Given the description of an element on the screen output the (x, y) to click on. 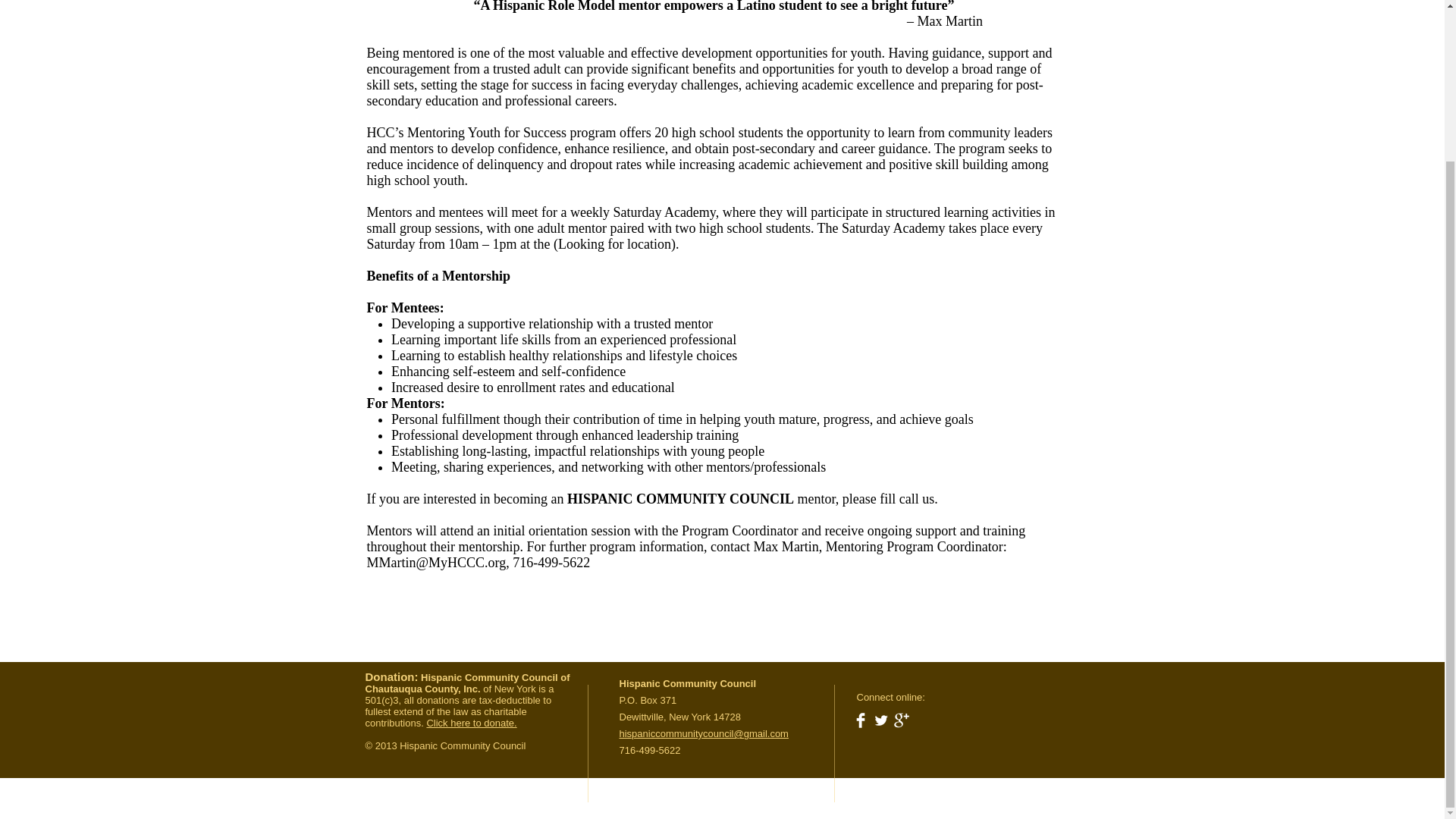
Click here to donate. (471, 722)
